Given the description of an element on the screen output the (x, y) to click on. 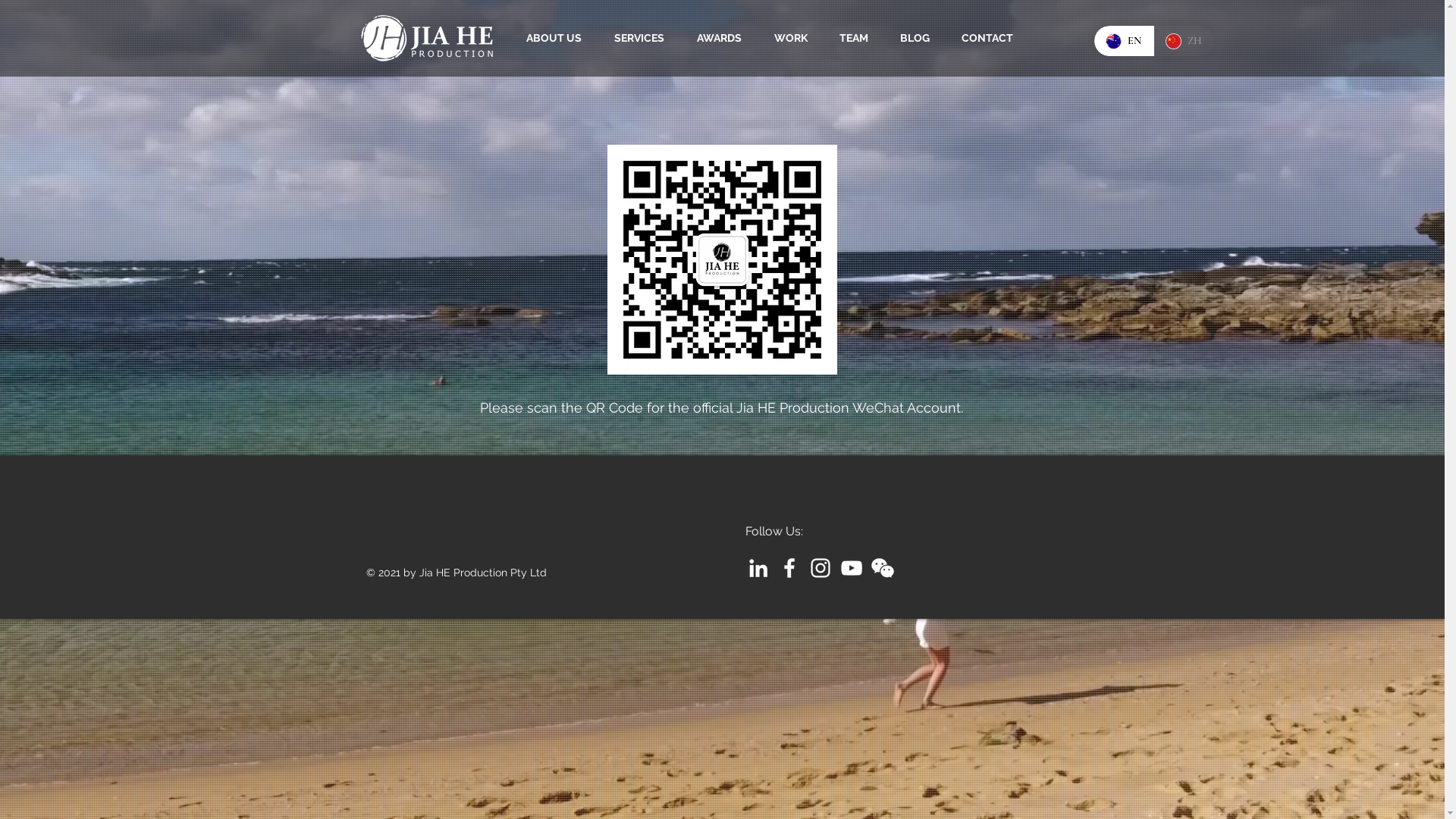
TEAM Element type: text (861, 37)
CONTACT Element type: text (993, 37)
EN Element type: text (1122, 40)
AWARDS Element type: text (726, 37)
WORK Element type: text (798, 37)
BLOG Element type: text (922, 37)
ZH Element type: text (1182, 40)
SERVICES Element type: text (646, 37)
ABOUT US Element type: text (561, 37)
